Given the description of an element on the screen output the (x, y) to click on. 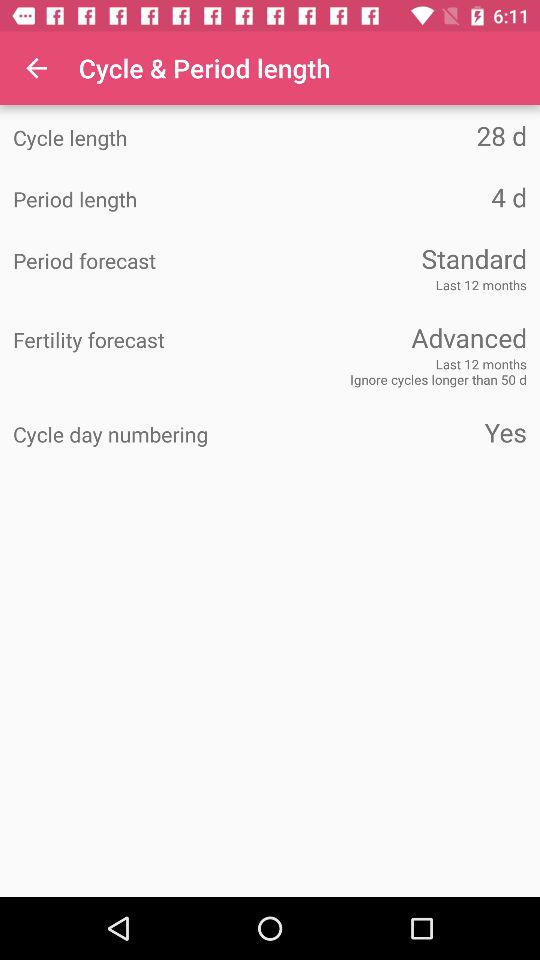
choose icon above the last 12 months icon (141, 261)
